Given the description of an element on the screen output the (x, y) to click on. 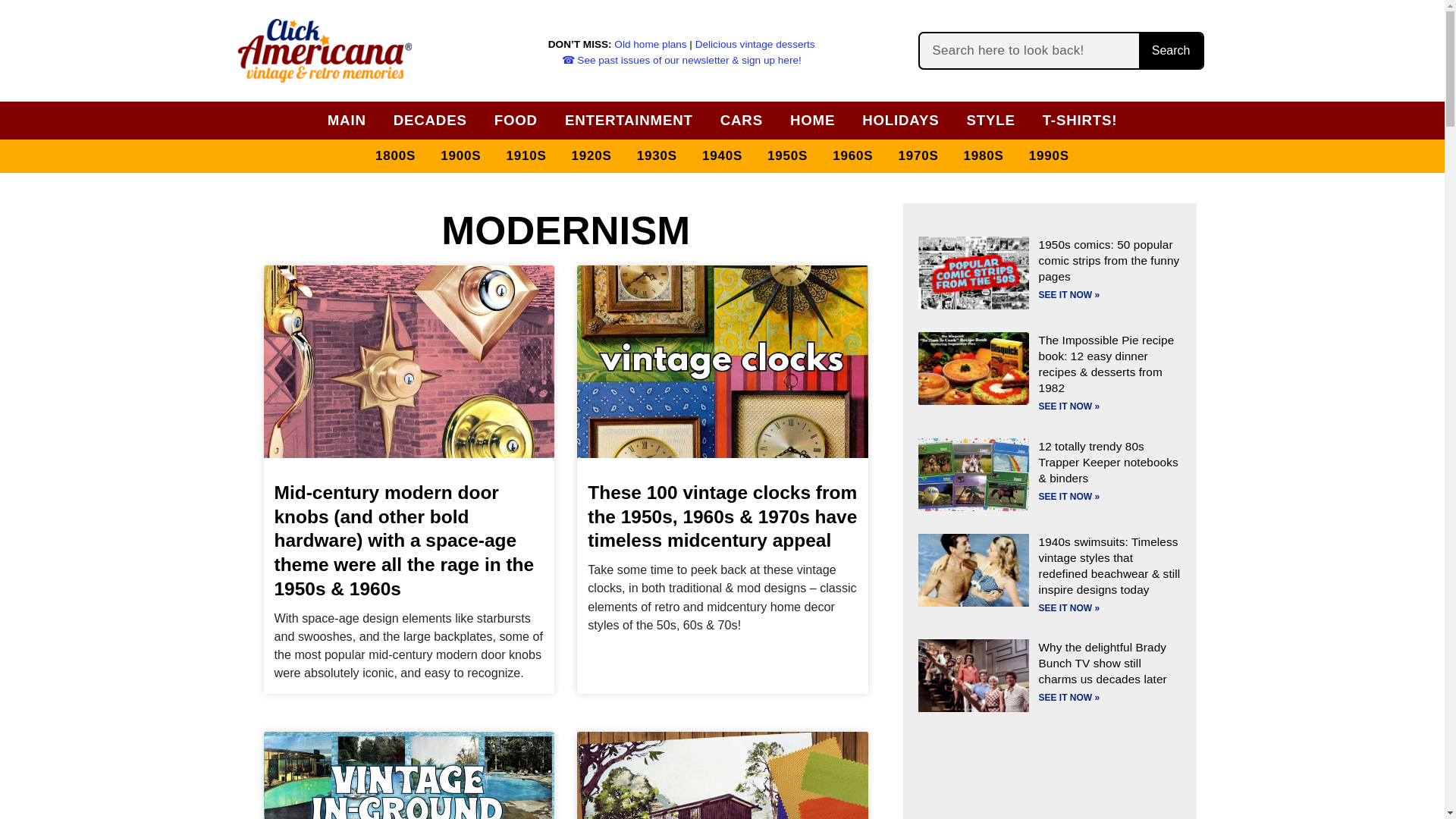
1980S (984, 155)
Old home plans (649, 43)
1970S (917, 155)
1900S (459, 155)
ENTERTAINMENT (628, 120)
1960S (853, 155)
CARS (741, 120)
T-SHIRTS! (1080, 120)
MAIN (346, 120)
HOLIDAYS (900, 120)
